Given the description of an element on the screen output the (x, y) to click on. 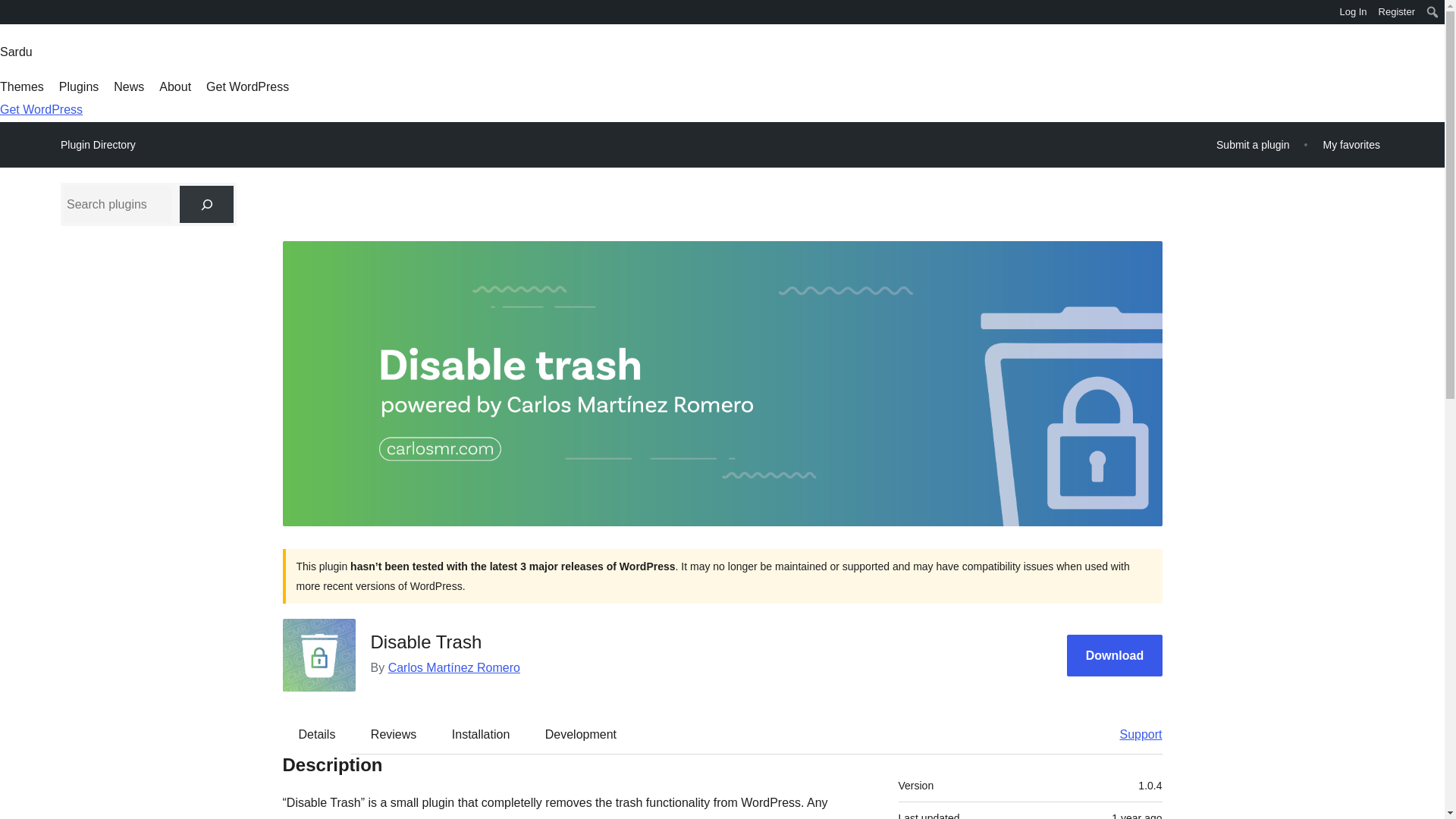
Get WordPress (41, 109)
Reviews (392, 733)
Development (580, 733)
Register (1397, 12)
WordPress.org (10, 10)
Themes (21, 87)
WordPress.org (10, 16)
Details (316, 733)
Support (1132, 733)
Log In (1353, 12)
